Given the description of an element on the screen output the (x, y) to click on. 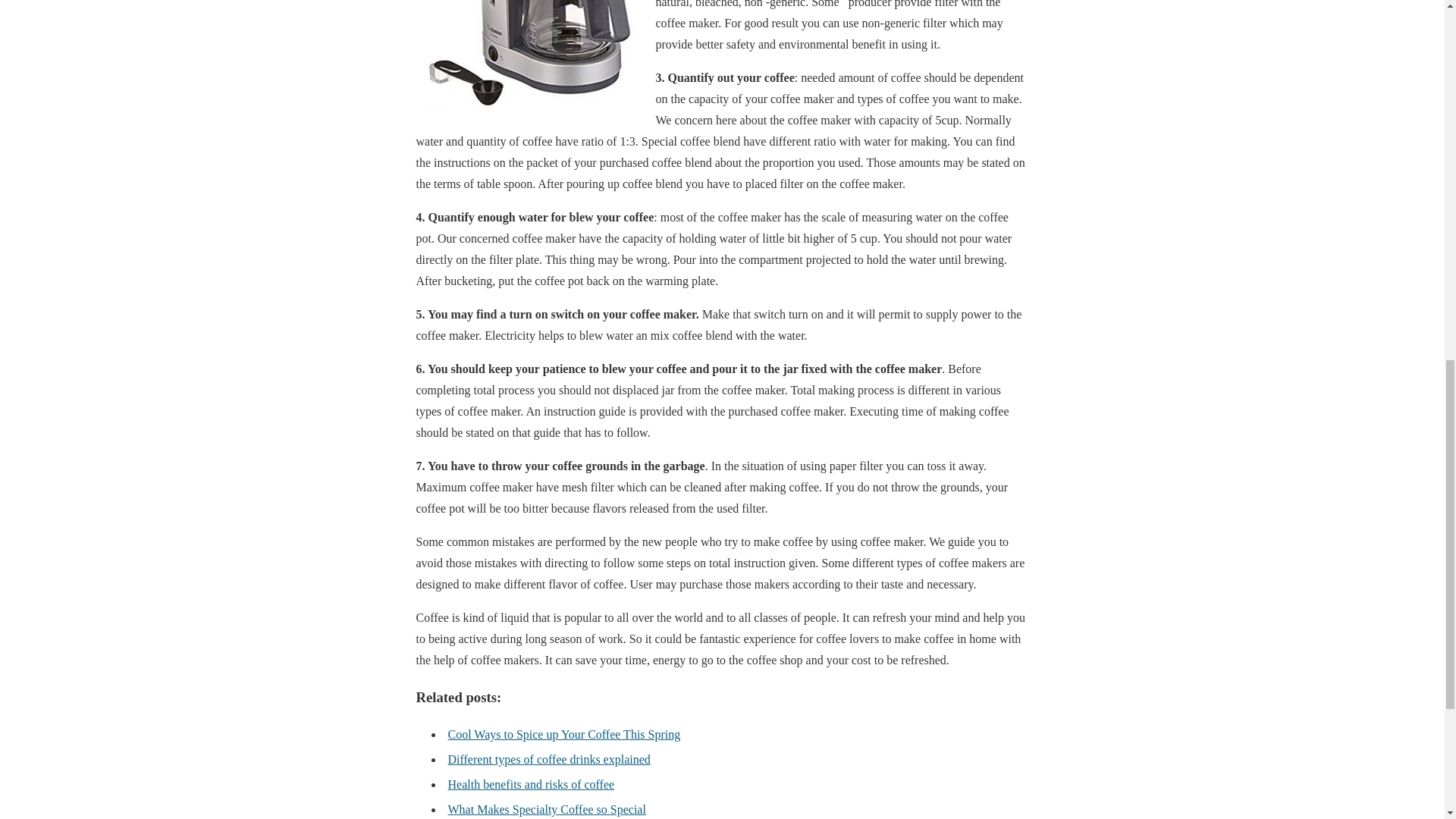
Different types of coffee drinks explained (547, 758)
What Makes Specialty Coffee so Special (545, 809)
Different types of coffee drinks explained (547, 758)
Cool Ways to Spice up Your Coffee This Spring (562, 734)
Cool Ways to Spice up Your Coffee This Spring (562, 734)
What Makes Specialty Coffee so Special (545, 809)
Health benefits and risks of coffee (530, 784)
